Given the description of an element on the screen output the (x, y) to click on. 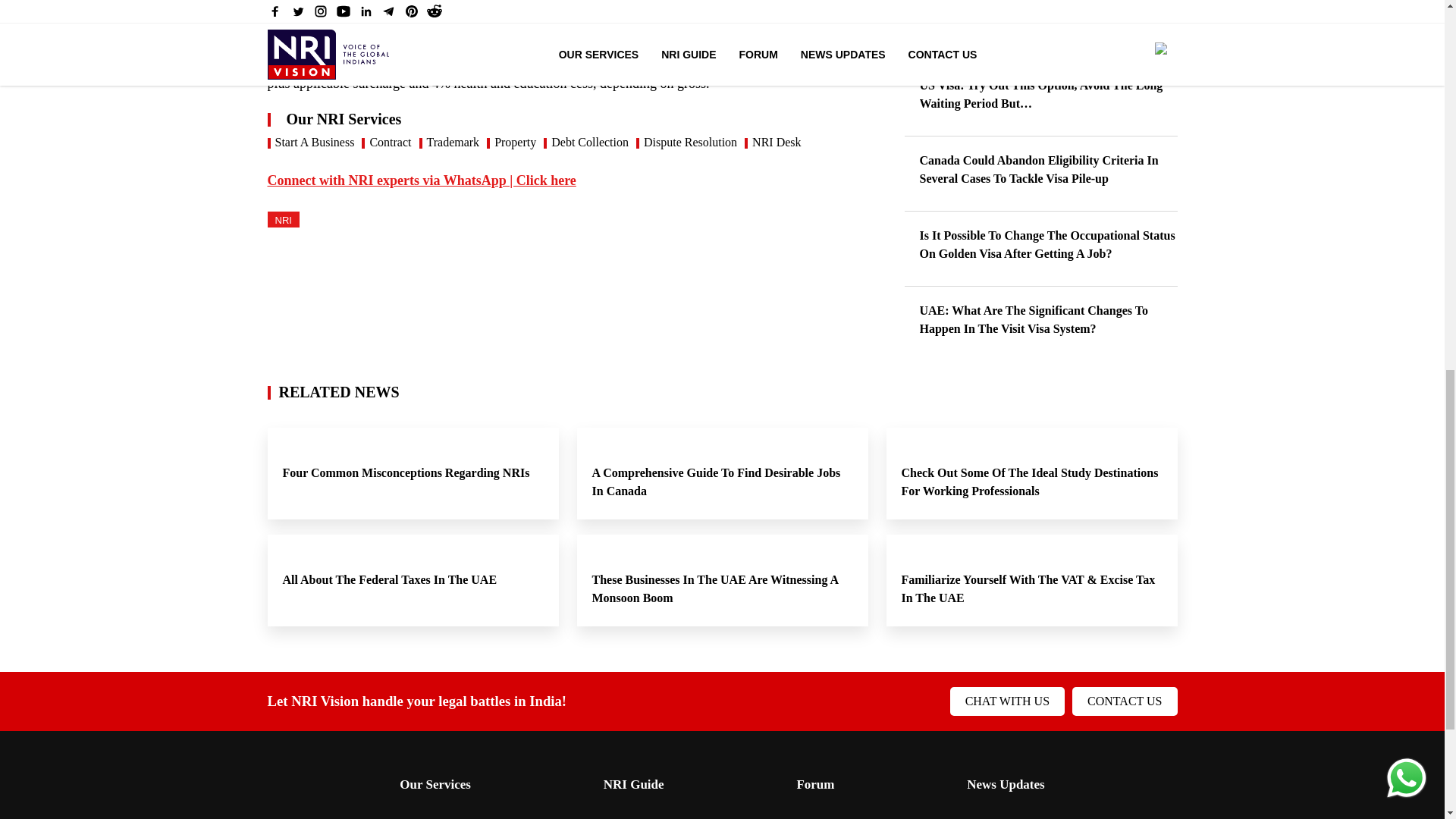
NRI (282, 219)
NRI Desk (776, 142)
Our NRI Services (574, 118)
Debt Collection (589, 142)
Start A Business (314, 142)
Trademark (452, 142)
Property (515, 142)
Contract (389, 142)
Dispute Resolution (689, 142)
